Given the description of an element on the screen output the (x, y) to click on. 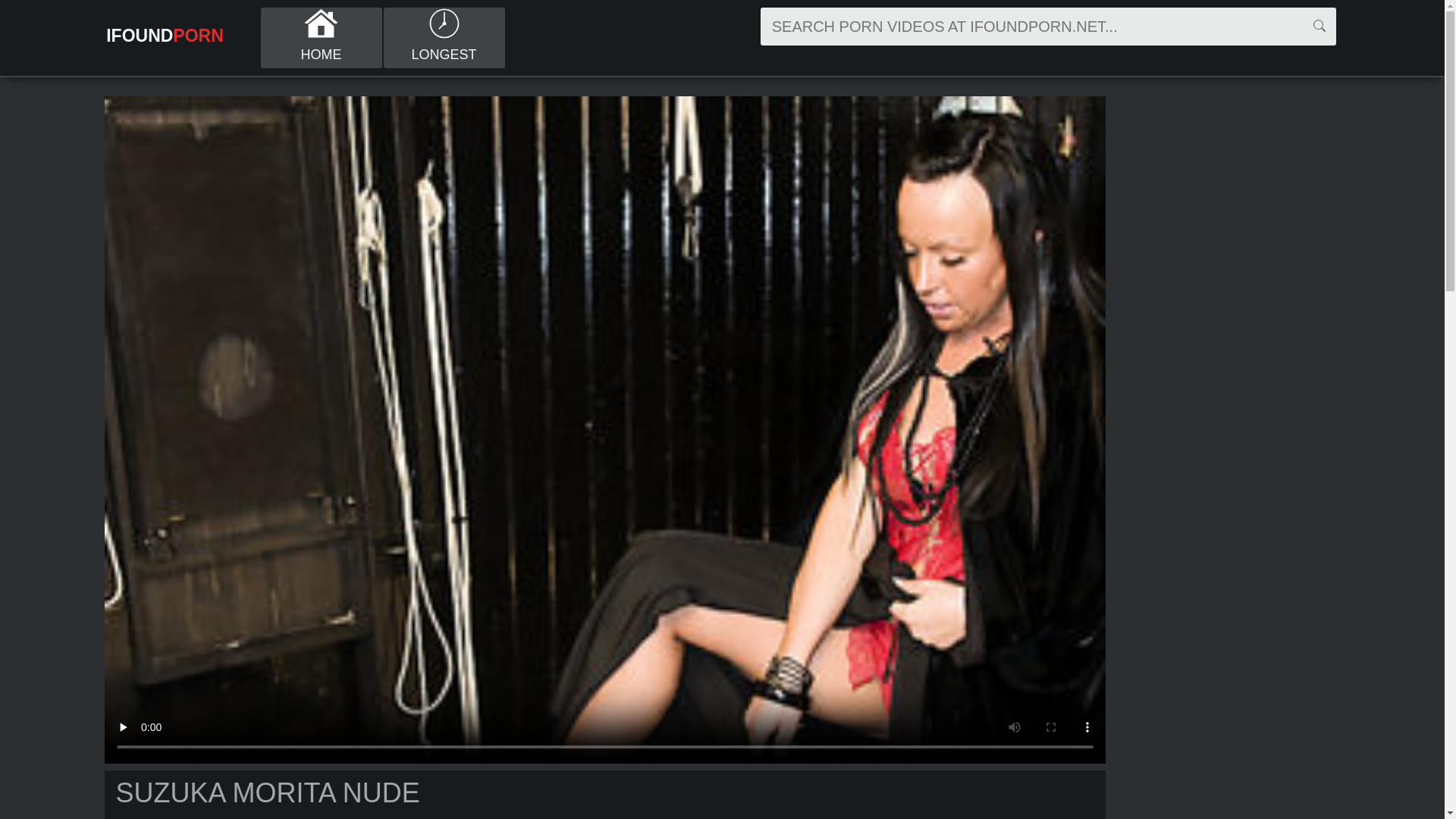
LONGEST Element type: text (444, 37)
HOME Element type: text (321, 37)
IFOUNDPORN Element type: text (164, 35)
Search Element type: hover (1319, 26)
